Given the description of an element on the screen output the (x, y) to click on. 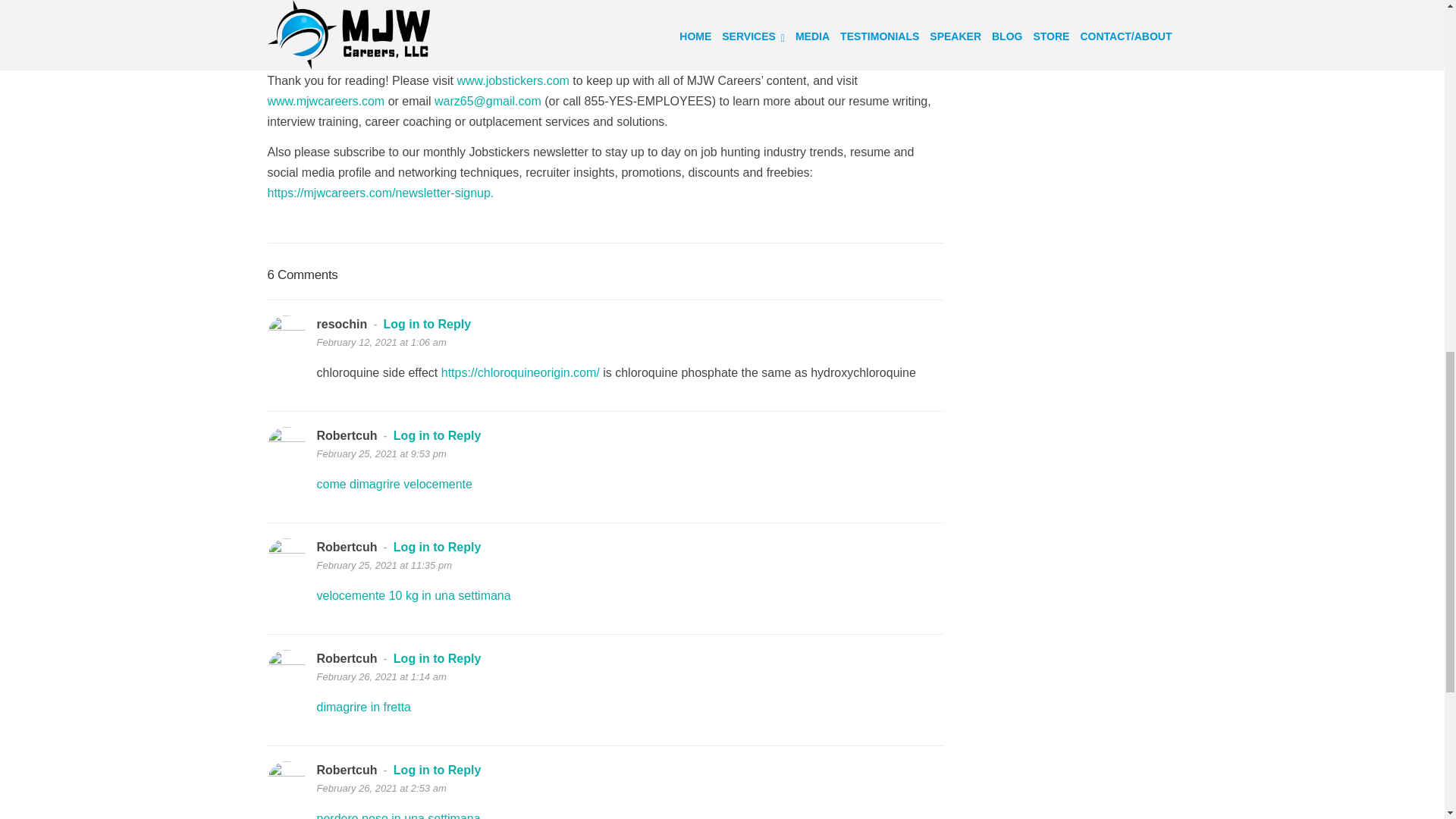
www.mjwcareers.com (325, 101)
www.jobstickers.com (513, 80)
resochin (342, 323)
Robertcuh (347, 435)
Log in to Reply (427, 323)
